Given the description of an element on the screen output the (x, y) to click on. 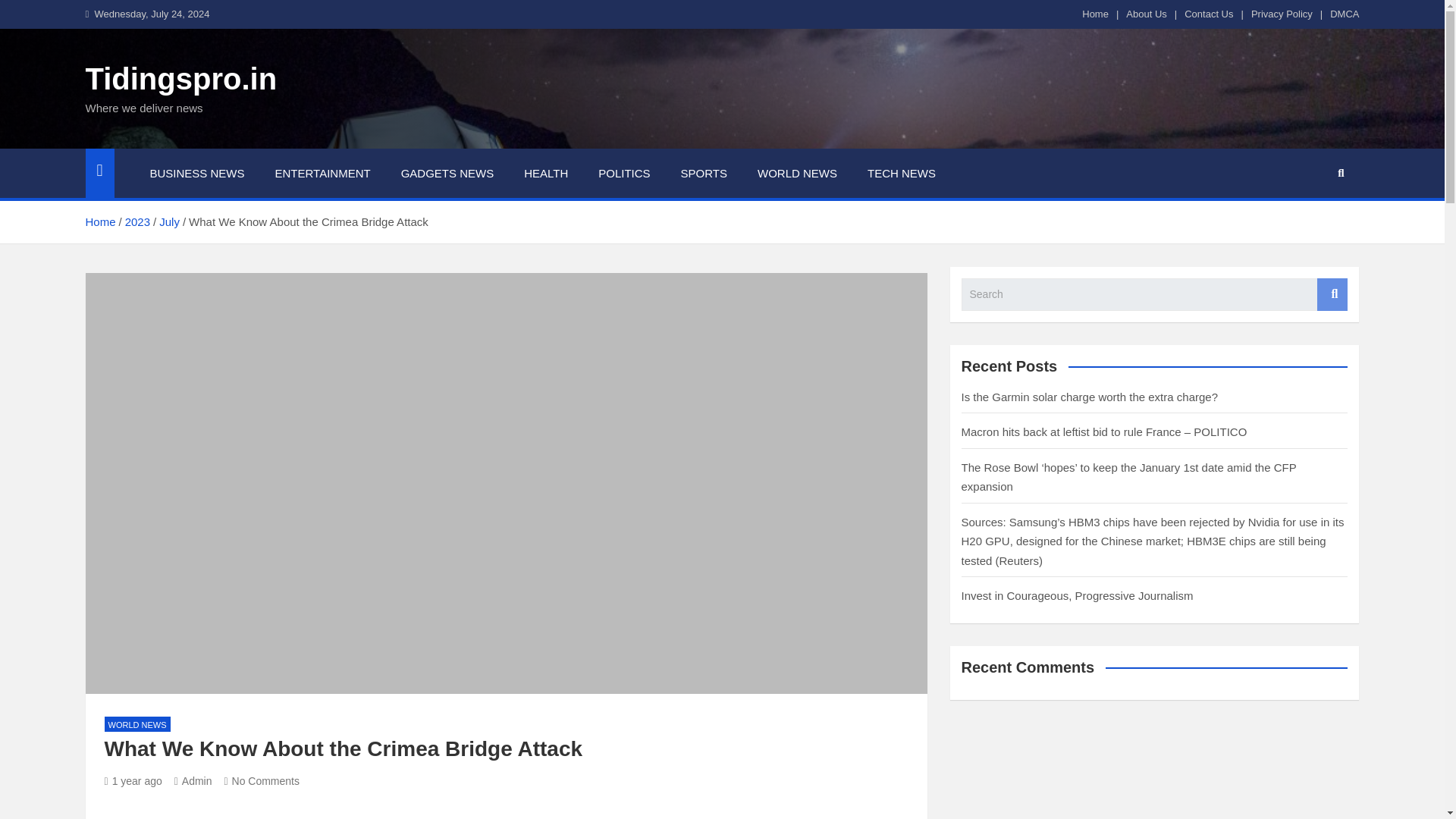
2023 (137, 221)
WORLD NEWS (796, 173)
July (168, 221)
No Comments (261, 780)
ENTERTAINMENT (322, 173)
1 year ago (132, 780)
Admin (193, 780)
Home (99, 221)
Tidingspro.in (180, 78)
HEALTH (545, 173)
Search (1332, 294)
Privacy Policy (1281, 13)
BUSINESS NEWS (197, 173)
SPORTS (703, 173)
Home (1094, 13)
